Given the description of an element on the screen output the (x, y) to click on. 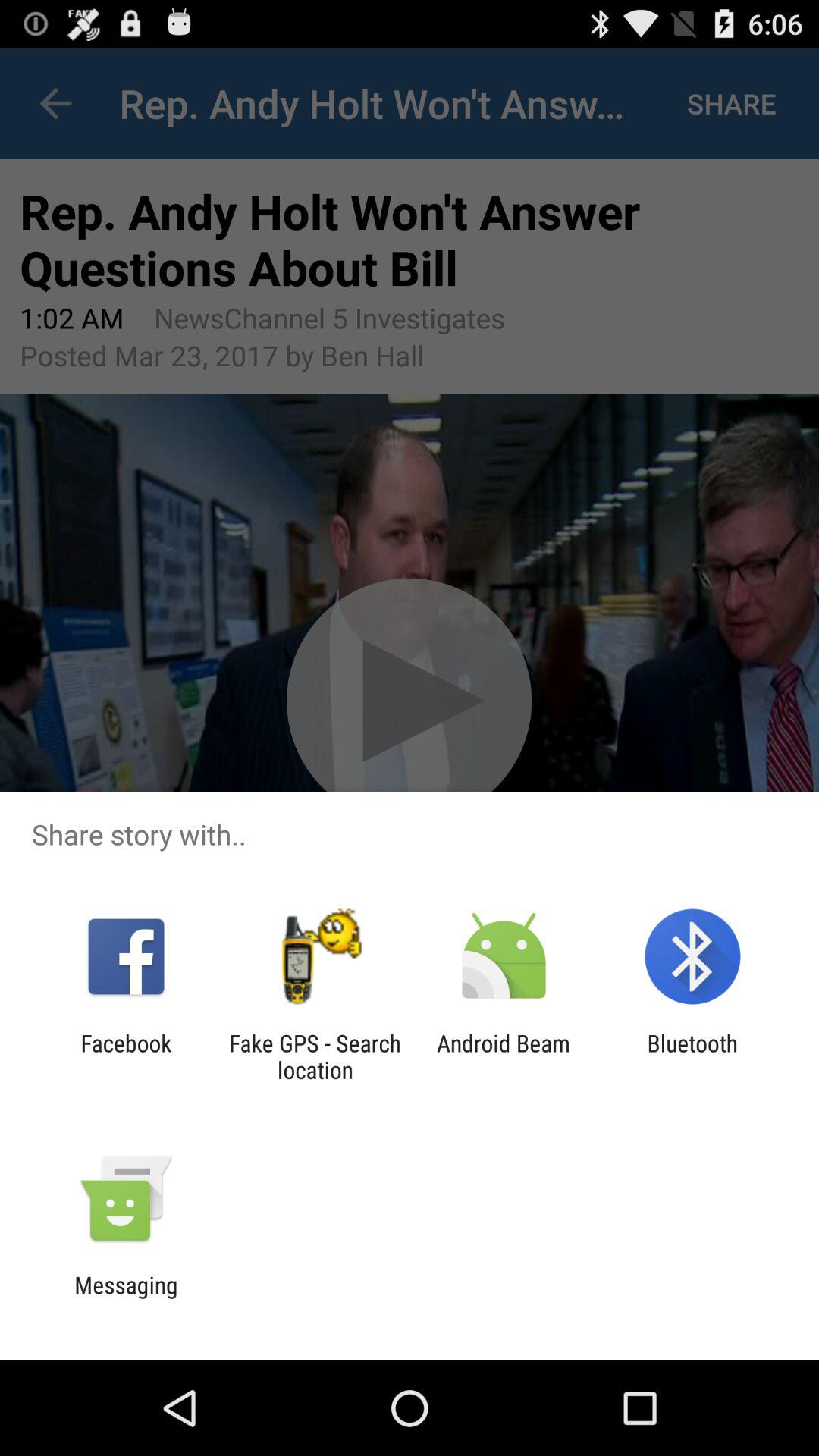
turn on icon to the right of android beam item (692, 1056)
